Given the description of an element on the screen output the (x, y) to click on. 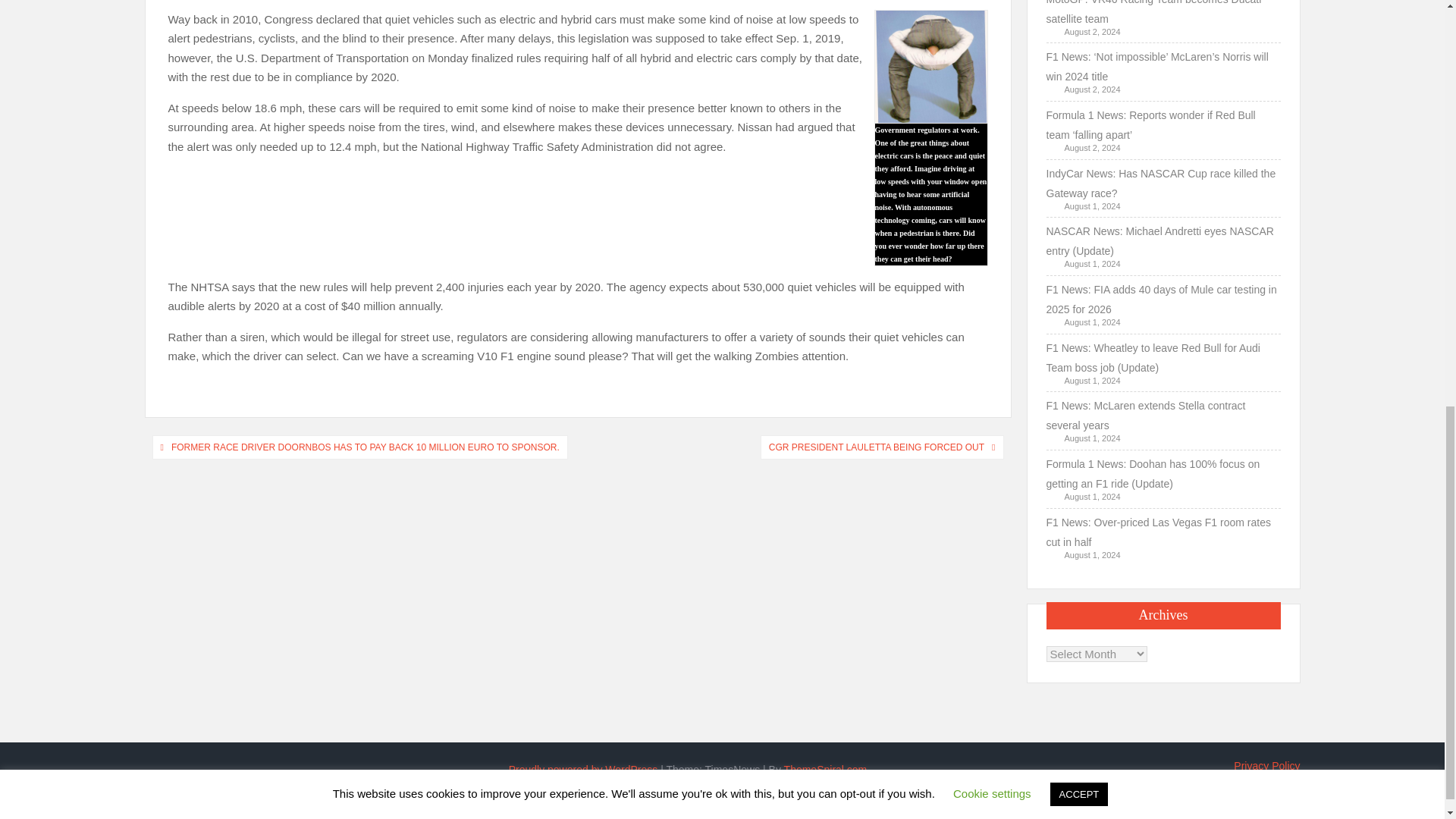
Social Media Auto Publish (665, 804)
